Given the description of an element on the screen output the (x, y) to click on. 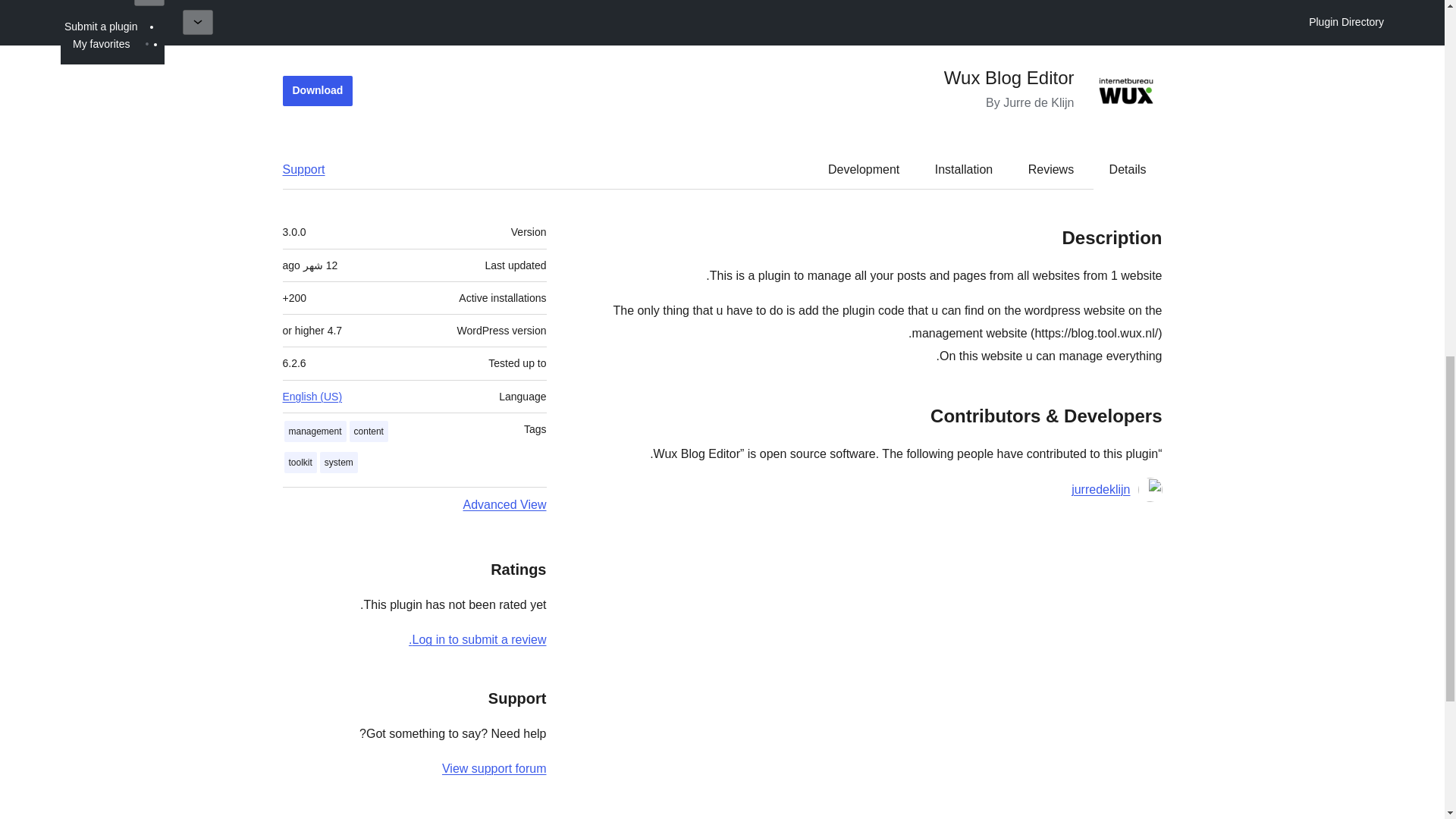
jurredeklijn (1100, 216)
management (314, 158)
WordPress.org (1318, 782)
Log in to WordPress.org (477, 366)
content (368, 158)
